Given the description of an element on the screen output the (x, y) to click on. 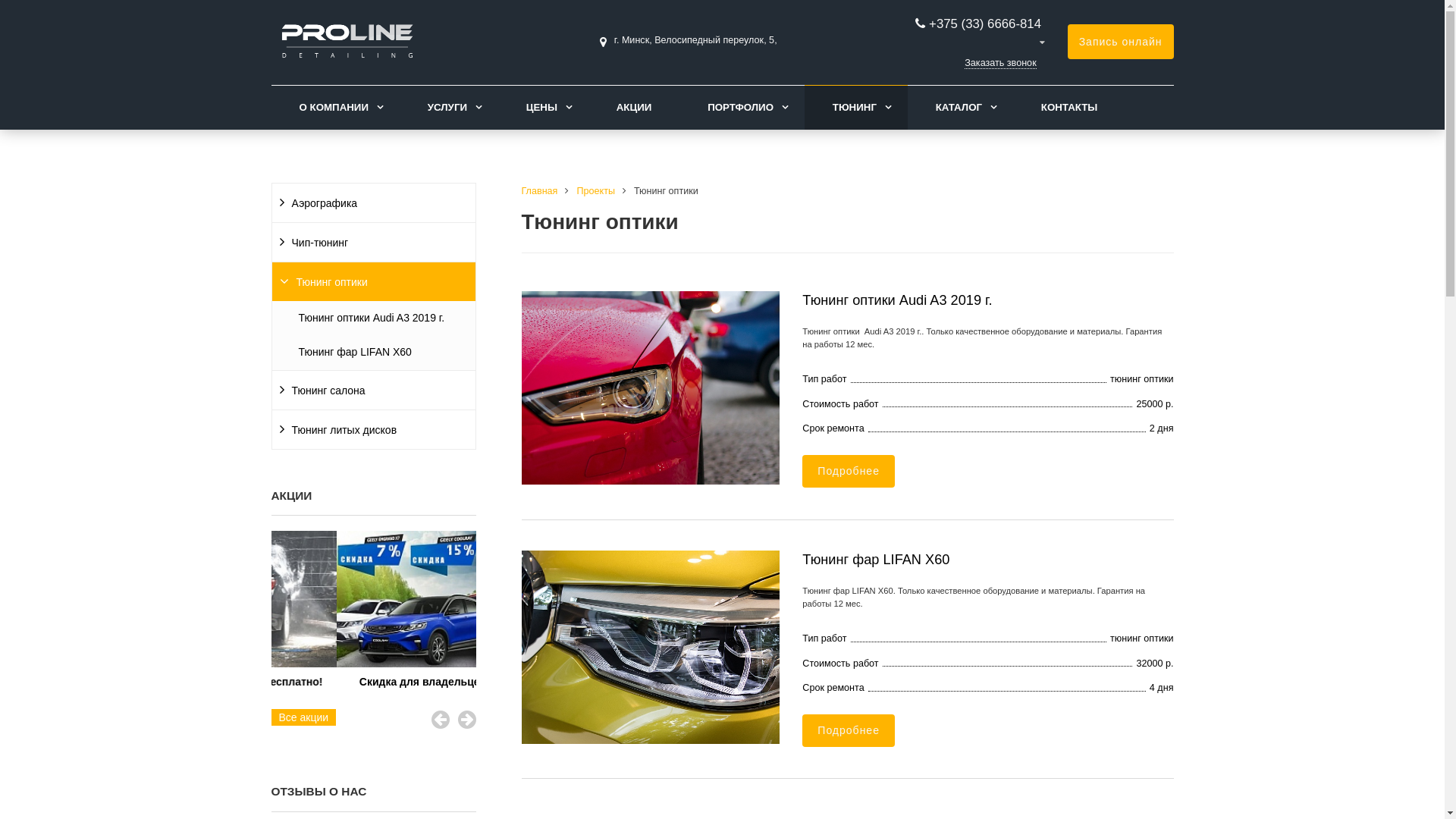
+375 (33) 6666-814  Element type: text (986, 23)
